Given the description of an element on the screen output the (x, y) to click on. 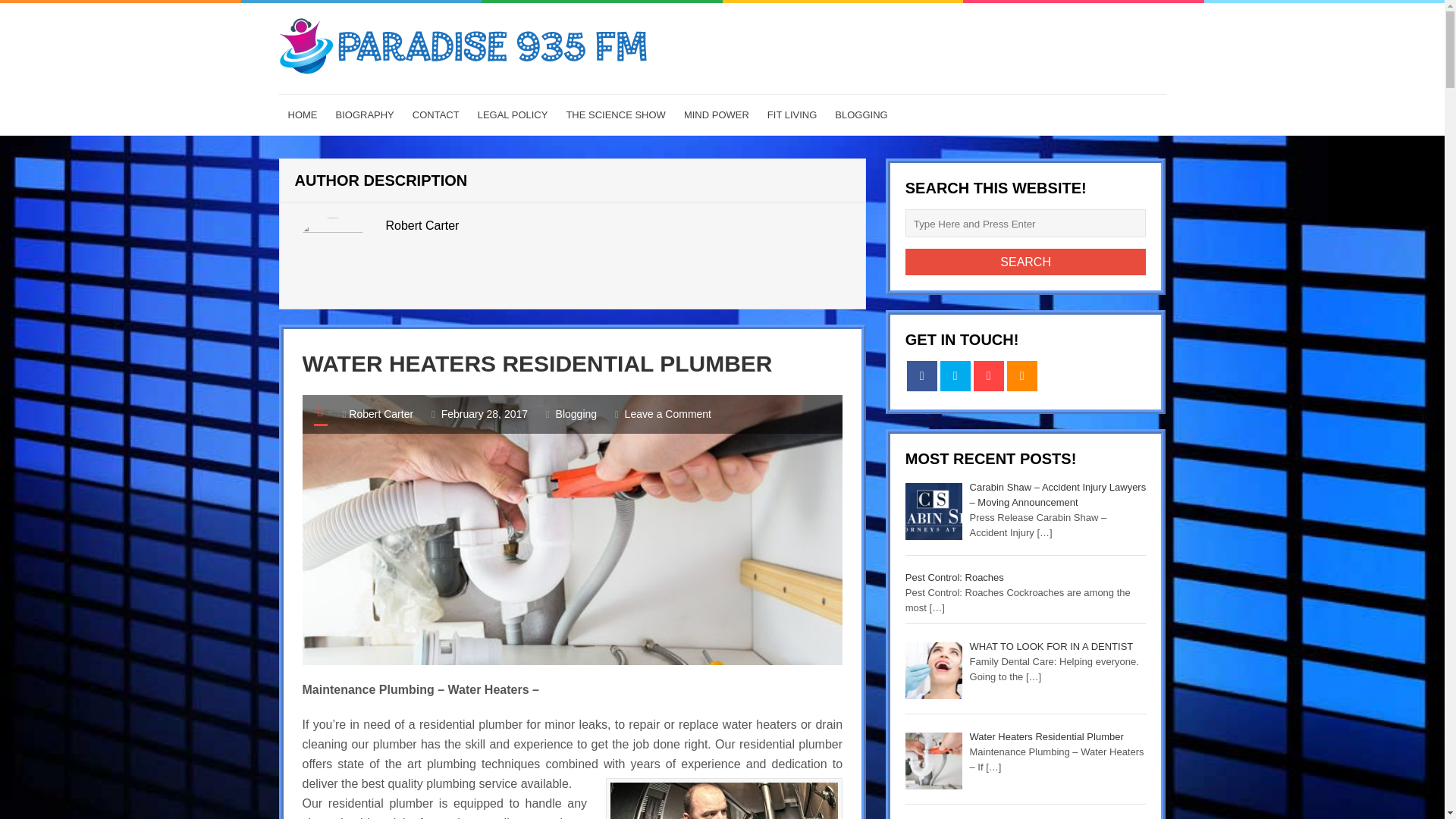
Pest Control: Roaches (954, 577)
Blogging (576, 413)
LEGAL POLICY (512, 115)
BIOGRAPHY (364, 115)
WATER HEATERS RESIDENTIAL PLUMBER (536, 363)
Leave a Comment (667, 413)
BLOGGING (860, 115)
Search (1026, 261)
FIT LIVING (792, 115)
HOME (302, 115)
Water Heaters  Residential Plumber (536, 363)
THE SCIENCE SHOW (615, 115)
February 28, 2017 (484, 413)
Robert Carter (381, 413)
